Given the description of an element on the screen output the (x, y) to click on. 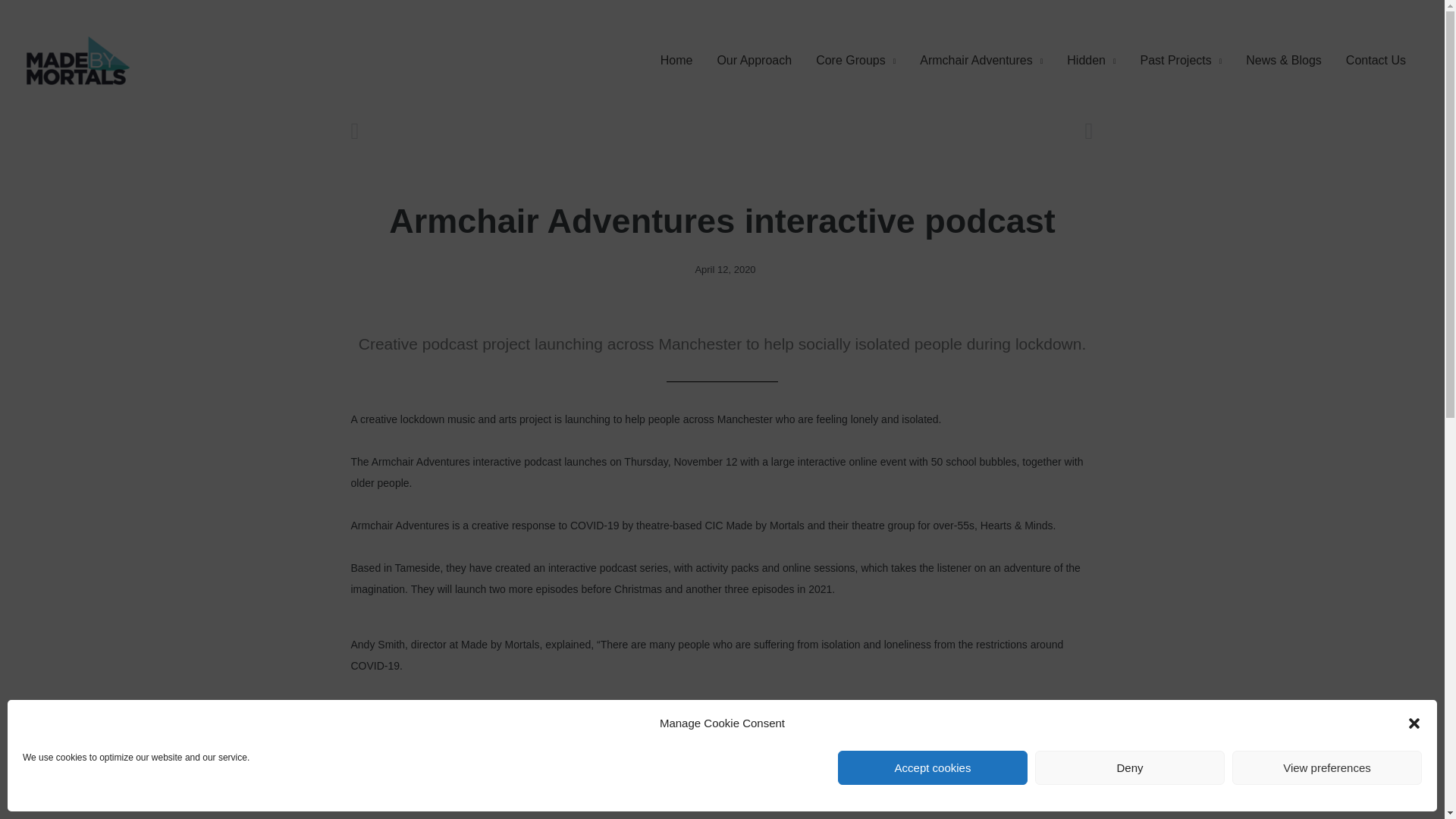
Home (675, 60)
Core Groups (855, 60)
Hidden (1090, 60)
View preferences (1326, 767)
Armchair Adventures (980, 60)
Past Projects (1179, 60)
Accept cookies (932, 767)
Deny (1129, 767)
Our Approach (753, 60)
